Given the description of an element on the screen output the (x, y) to click on. 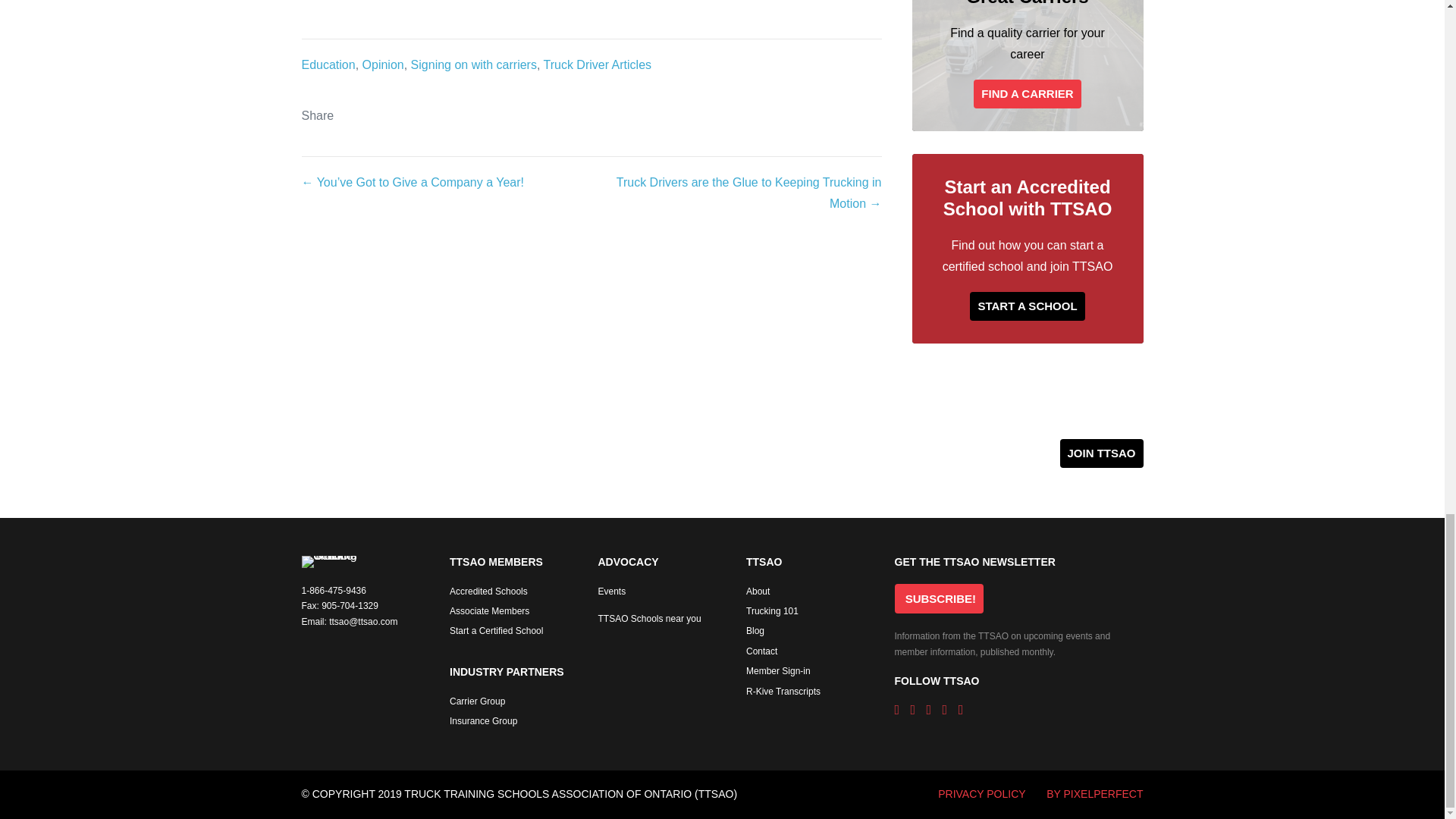
Signing on with carriers (473, 64)
Opinion (383, 64)
Truck Driver Articles (597, 64)
TTSAO Logo (329, 562)
Education (328, 64)
